Given the description of an element on the screen output the (x, y) to click on. 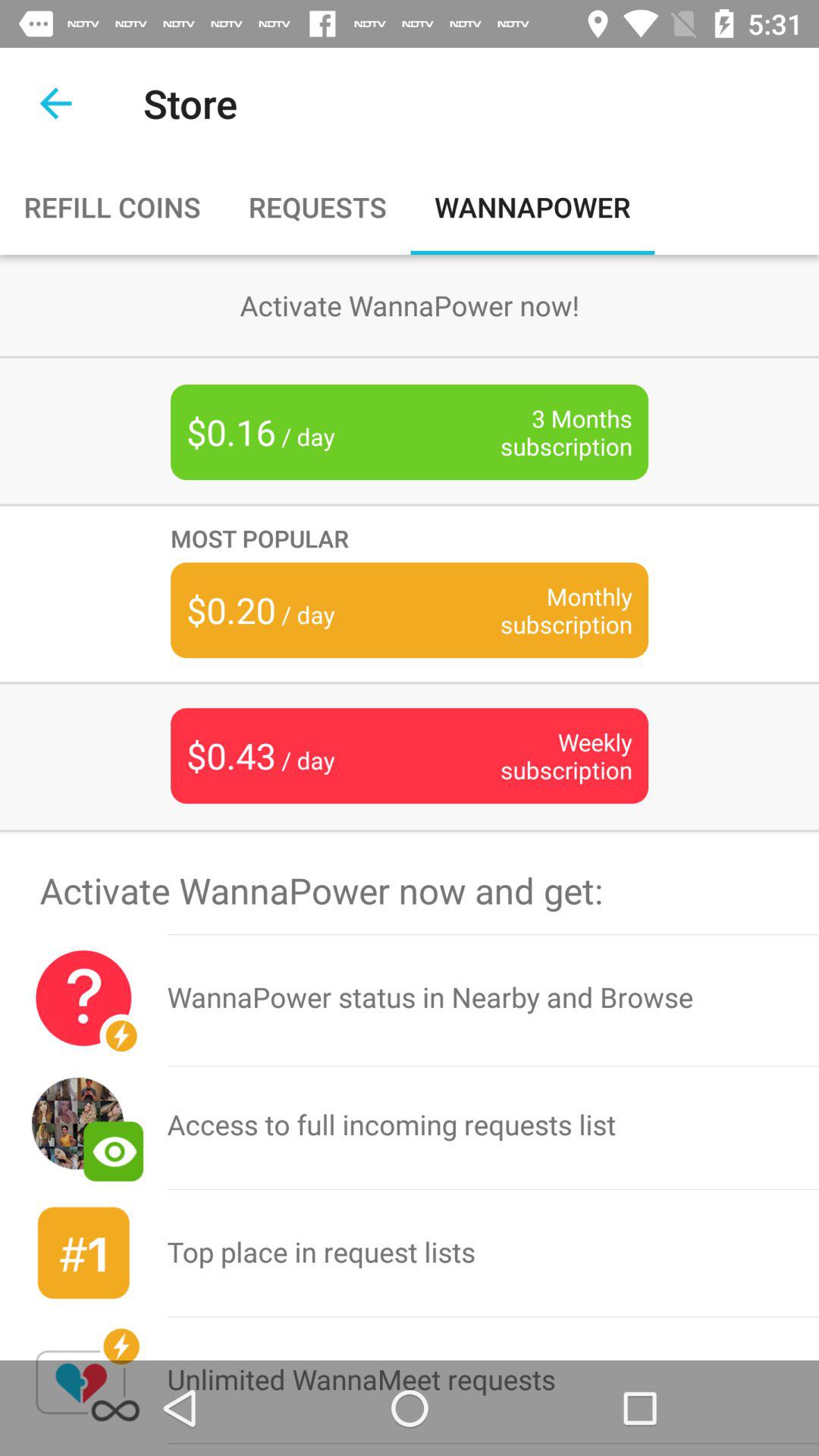
turn off item next to the wannapower status in icon (83, 1125)
